Given the description of an element on the screen output the (x, y) to click on. 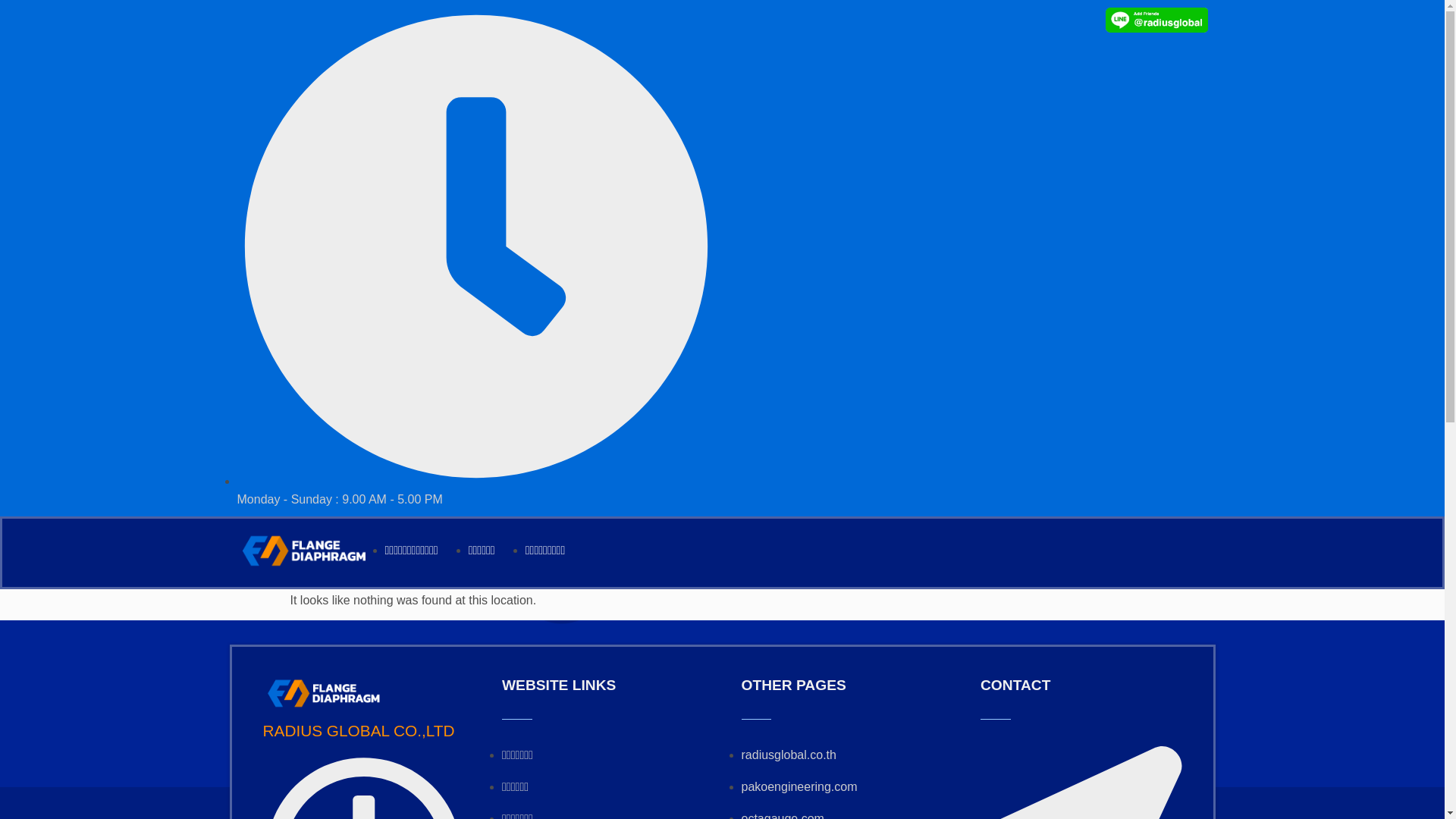
radiusglobal.co.th (788, 754)
pakoengineering.com (799, 786)
octagauge.com (782, 815)
